Given the description of an element on the screen output the (x, y) to click on. 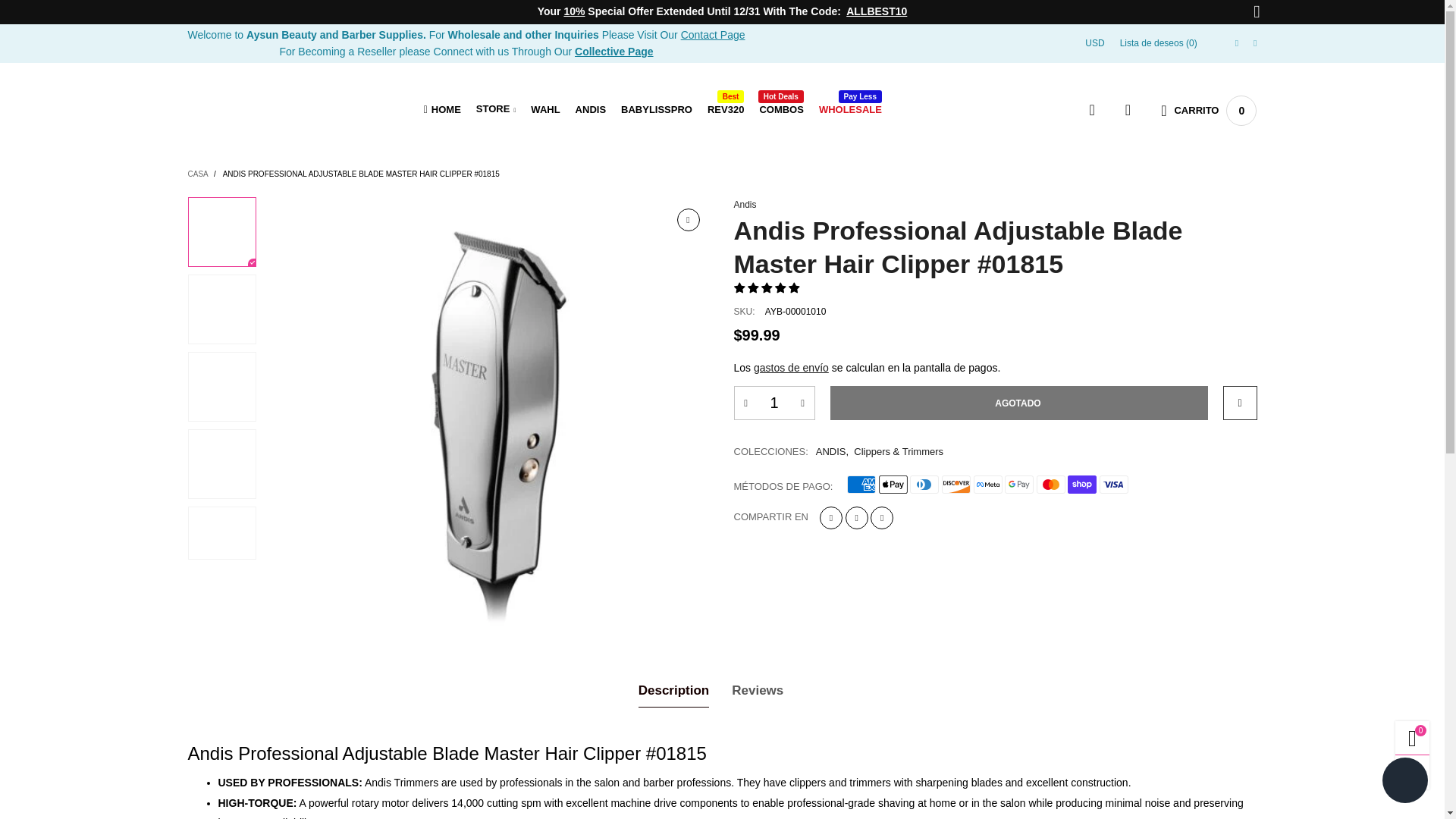
1 (773, 402)
HOME (442, 109)
Contact Page (725, 109)
Discover (780, 109)
Visa (713, 34)
Diners Club (956, 484)
American Express (1113, 484)
Meta Pay (924, 484)
